Given the description of an element on the screen output the (x, y) to click on. 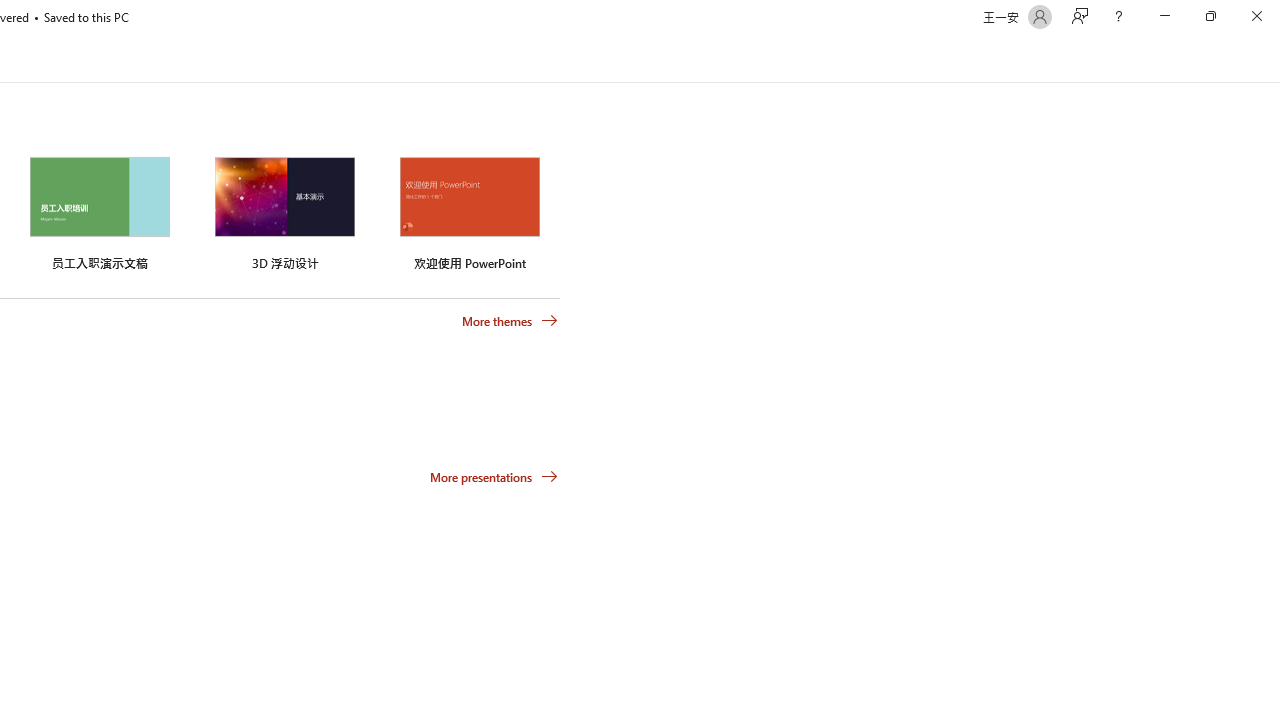
More presentations (493, 476)
More themes (509, 321)
Class: NetUIScrollBar (1271, 59)
